Given the description of an element on the screen output the (x, y) to click on. 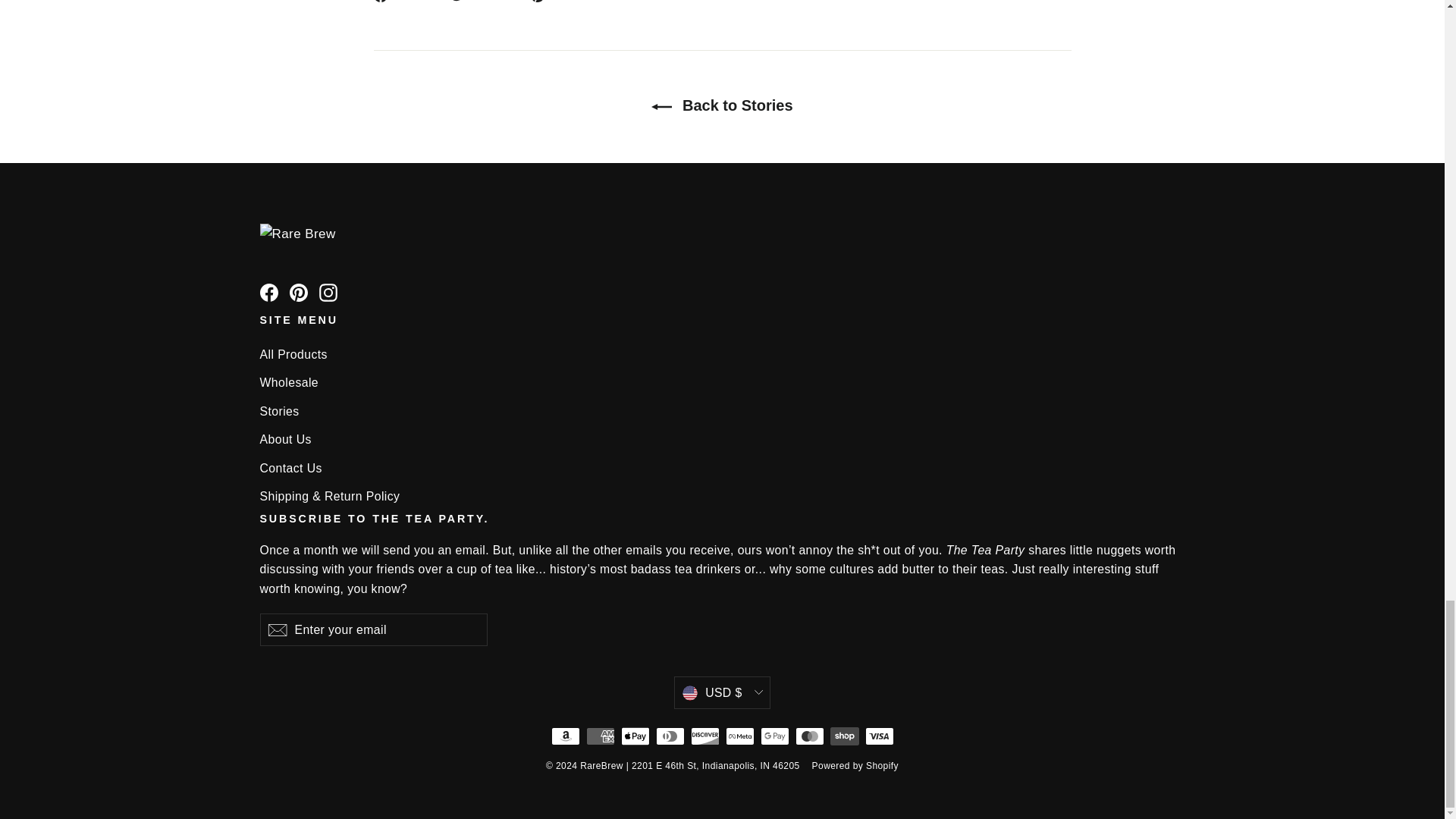
Google Pay (774, 736)
Amazon (564, 736)
Share on Facebook (405, 2)
Discover (704, 736)
American Express (599, 736)
Diners Club (669, 736)
RareBrew on Pinterest (298, 291)
Apple Pay (634, 736)
Pin on Pinterest (561, 2)
Tweet on Twitter (483, 2)
Meta Pay (739, 736)
RareBrew on Instagram (327, 291)
